Given the description of an element on the screen output the (x, y) to click on. 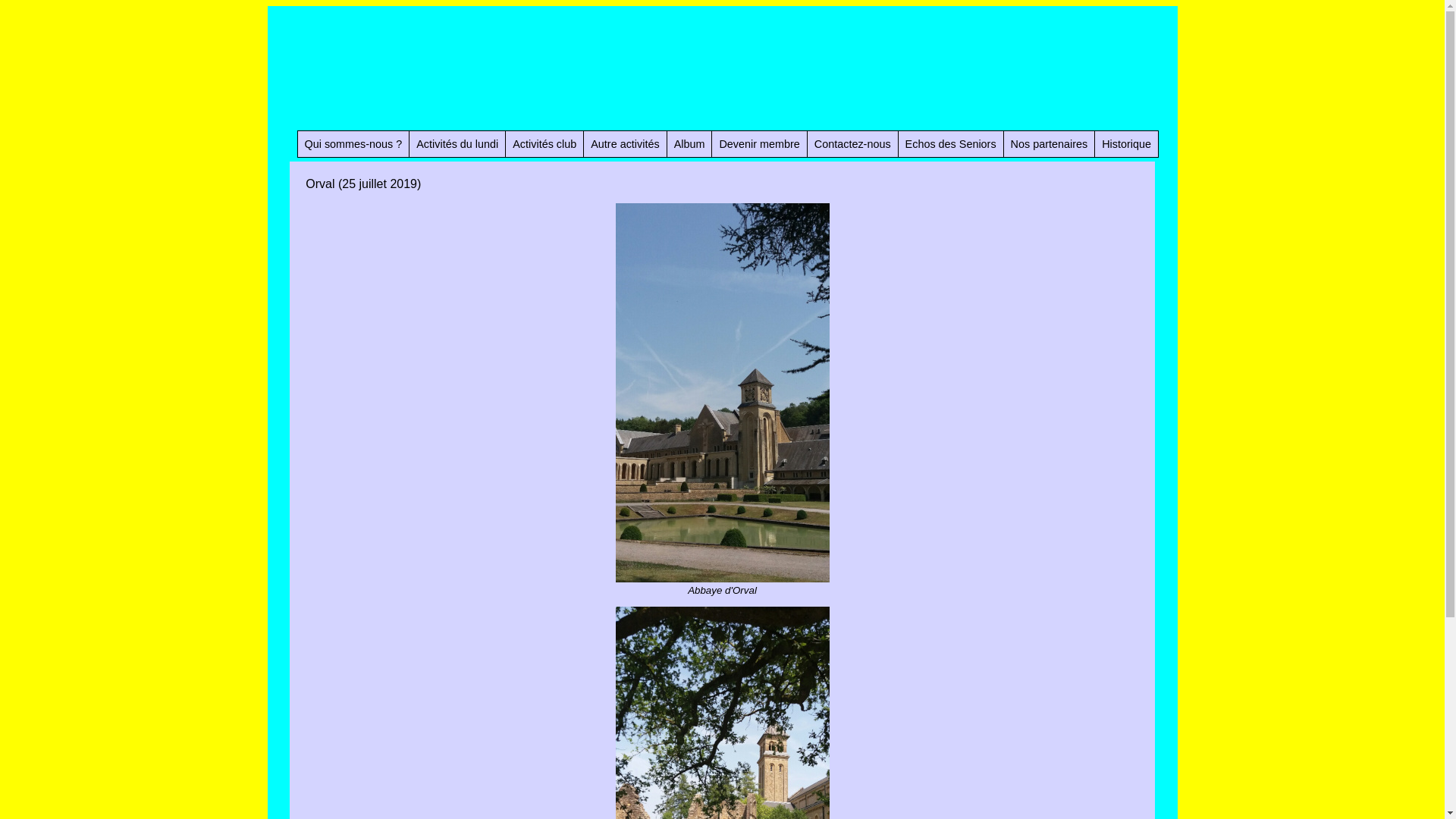
Echos des Seniors Element type: text (950, 143)
Nos partenaires Element type: text (1049, 143)
Qui sommes-nous ? Element type: text (352, 143)
Devenir membre Element type: text (759, 143)
Historique Element type: text (1126, 143)
Album Element type: text (689, 143)
Contactez-nous Element type: text (852, 143)
